Given the description of an element on the screen output the (x, y) to click on. 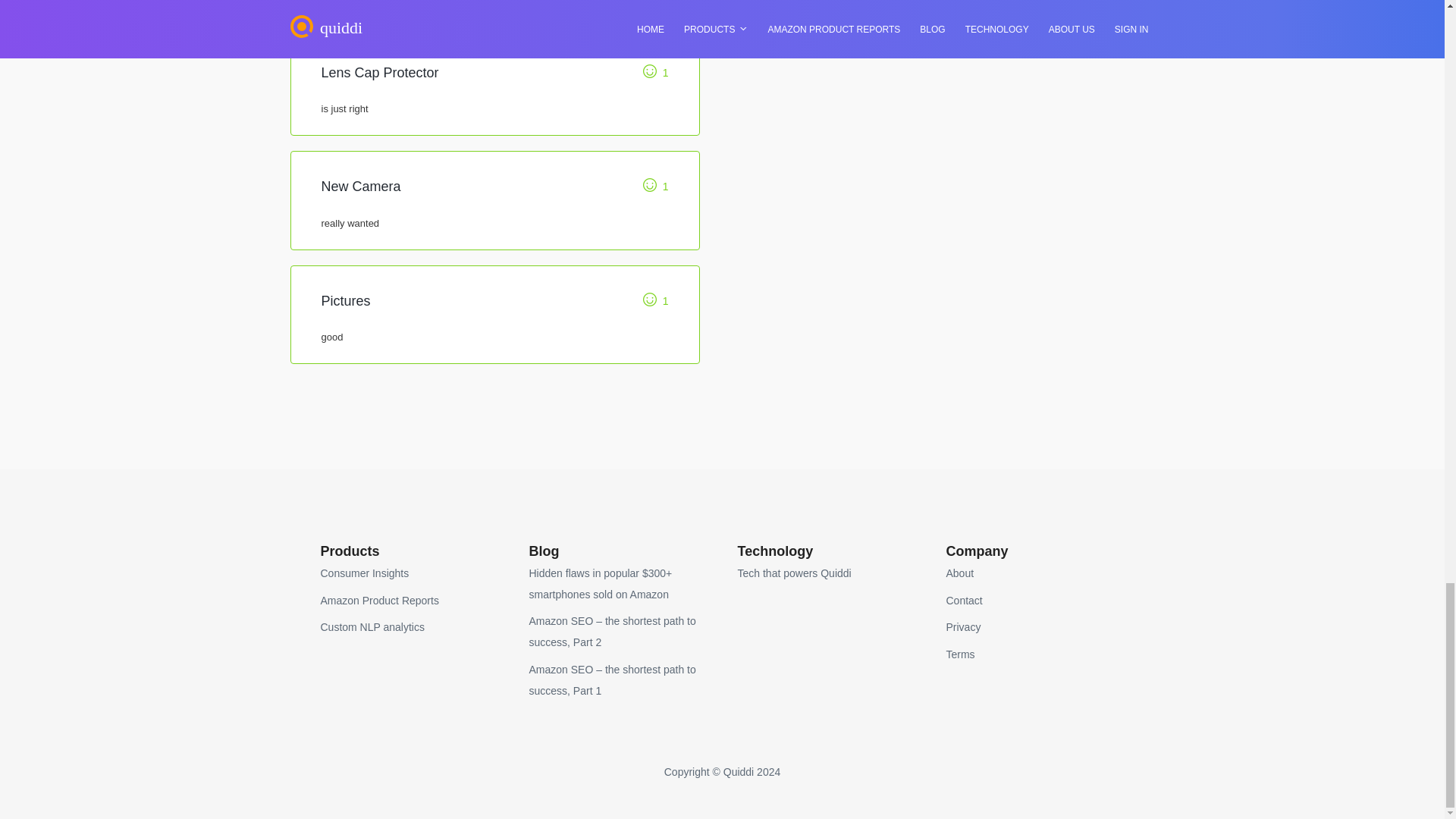
Technology (774, 550)
Blog (544, 550)
About (960, 573)
Products (349, 550)
Contact (964, 600)
Privacy (963, 626)
Products (349, 550)
Amazon Product Reports (379, 600)
Amazon Product Reports (379, 600)
Tech that powers Quiddi (793, 573)
Company (977, 550)
Custom NLP analytics (371, 626)
Terms (960, 654)
Consumer Insights (364, 573)
Consumer Insights (364, 573)
